Given the description of an element on the screen output the (x, y) to click on. 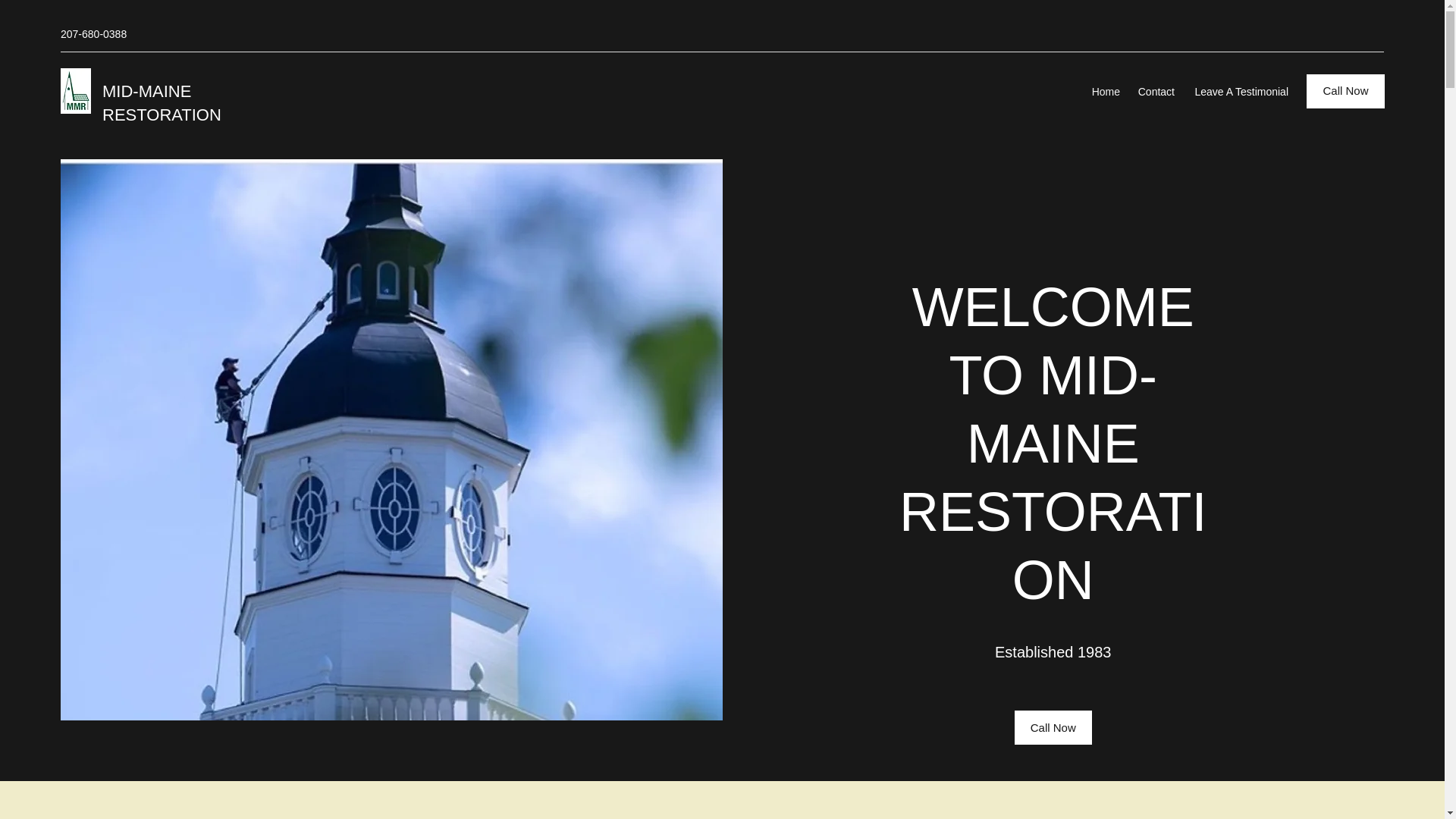
Home (1104, 91)
Leave A Testimonial (1238, 91)
MID-MAINE RESTORATION (161, 102)
Call Now (1053, 727)
Call Now (1345, 91)
Contact (1154, 91)
